Given the description of an element on the screen output the (x, y) to click on. 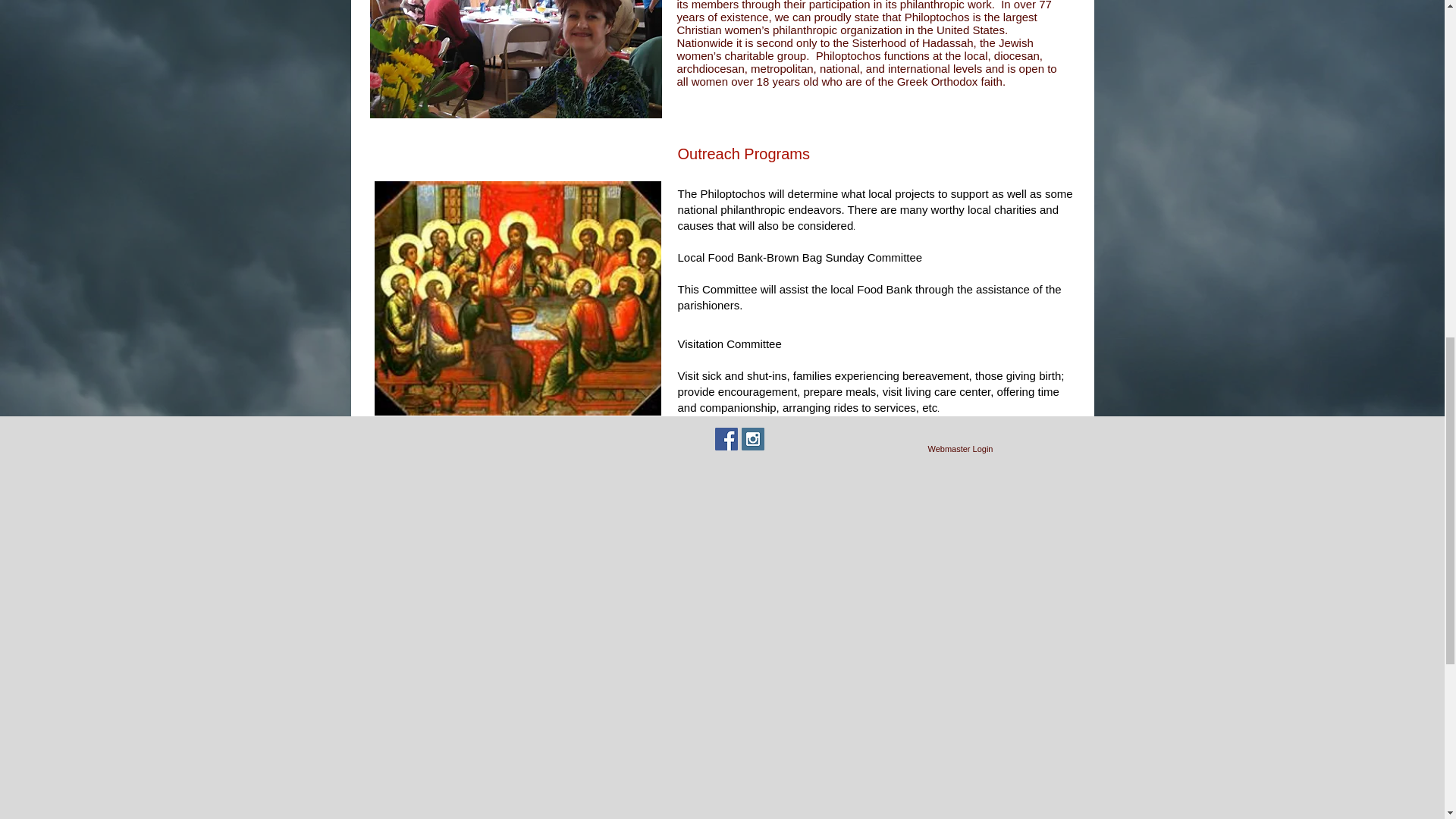
Webmaster Login (959, 449)
